Given the description of an element on the screen output the (x, y) to click on. 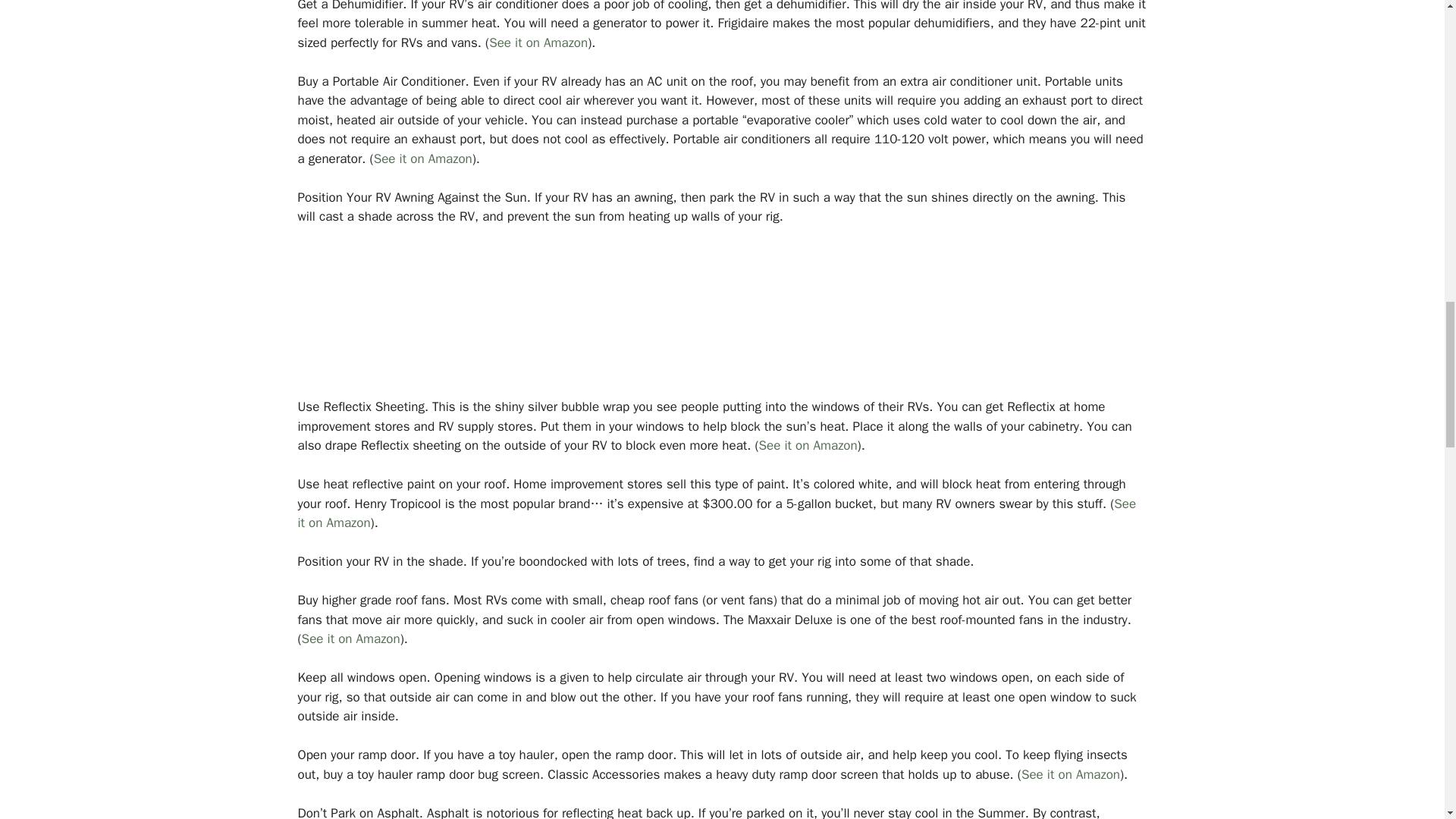
See it on Amazon (716, 513)
See it on Amazon (538, 42)
See it on Amazon (422, 158)
See it on Amazon (807, 445)
See it on Amazon (350, 638)
Advertisement (722, 321)
See it on Amazon (1070, 774)
